Given the description of an element on the screen output the (x, y) to click on. 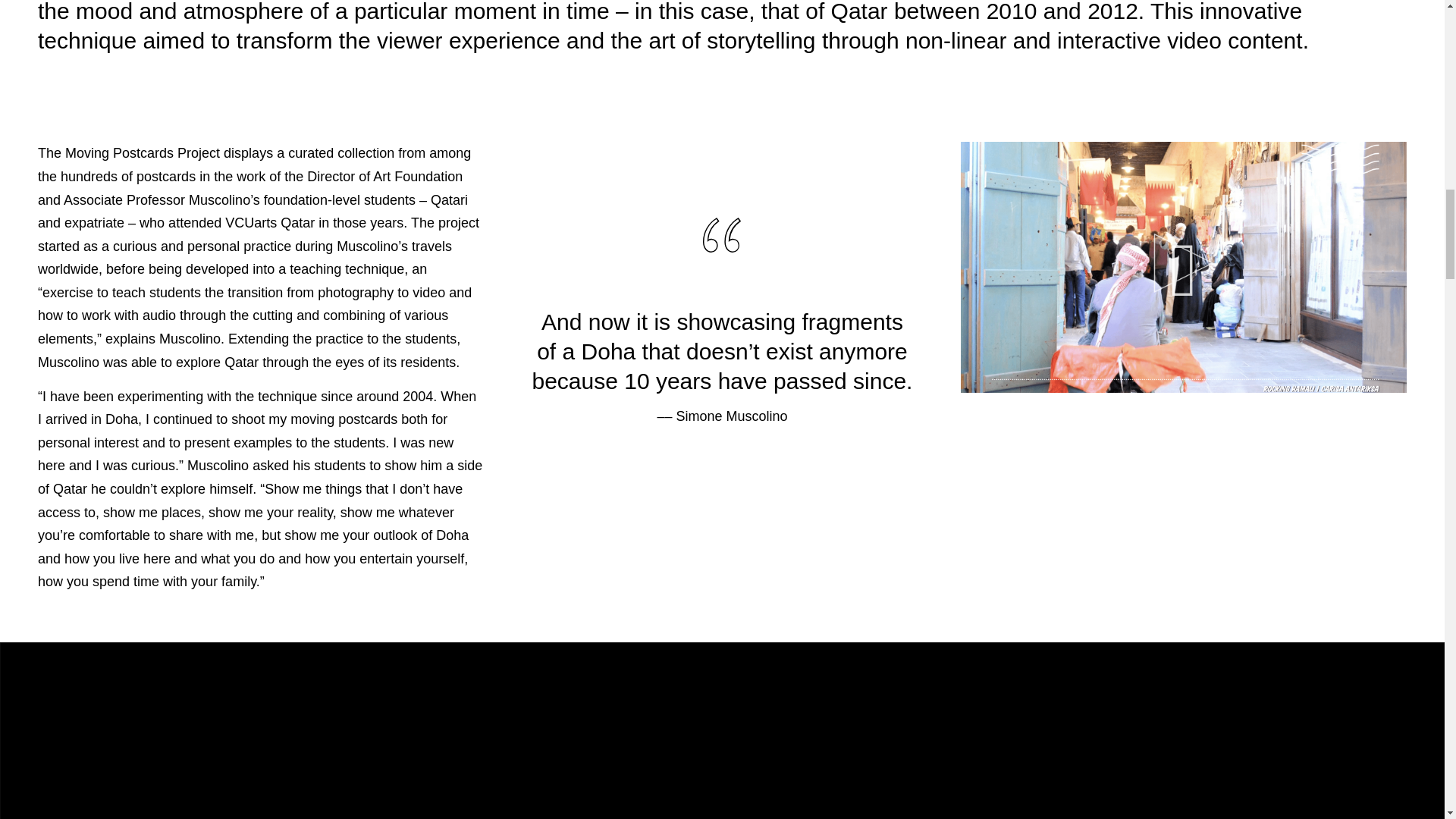
vimeo Video Player (1183, 267)
